Given the description of an element on the screen output the (x, y) to click on. 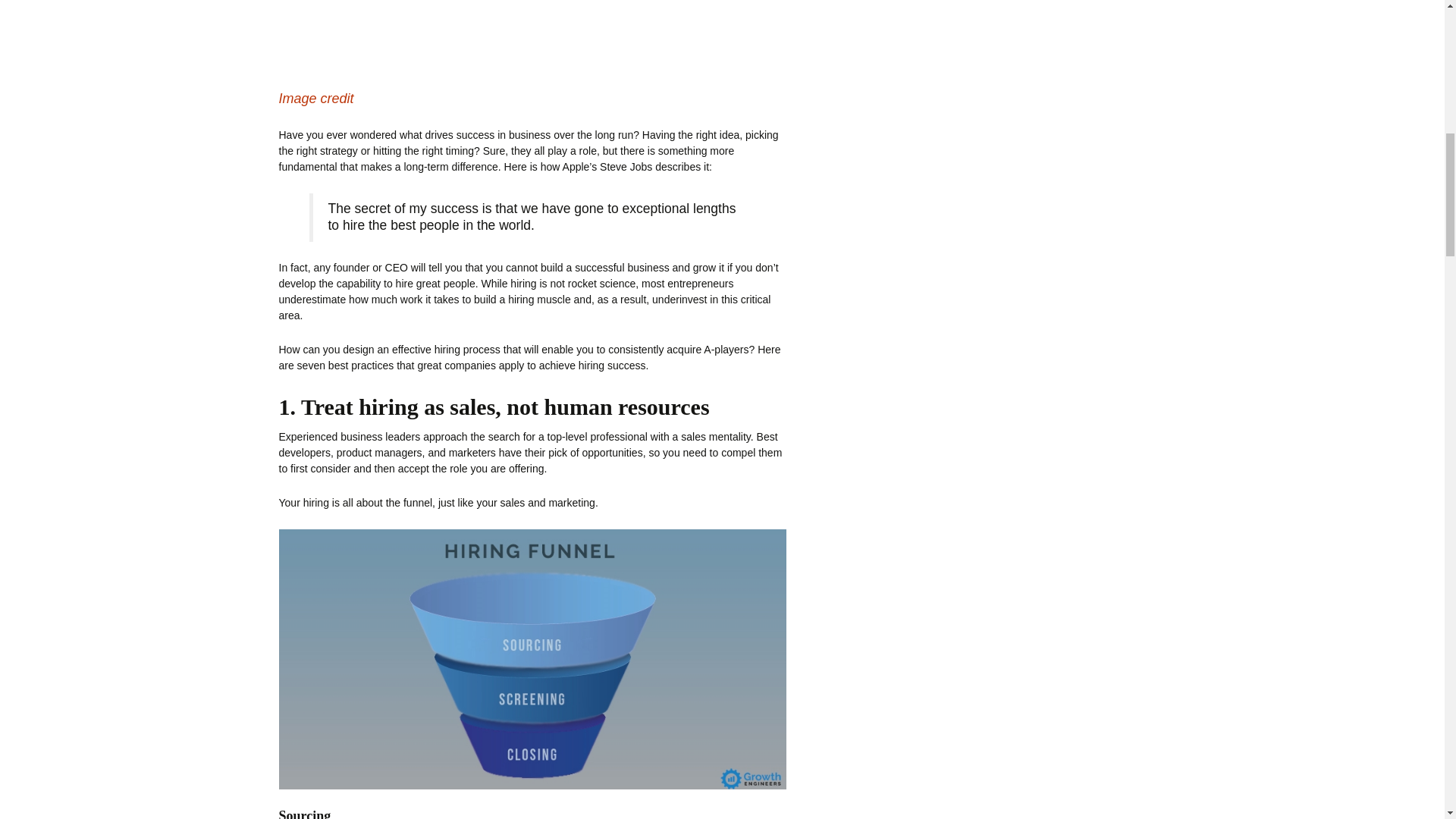
Image credit (316, 98)
